Given the description of an element on the screen output the (x, y) to click on. 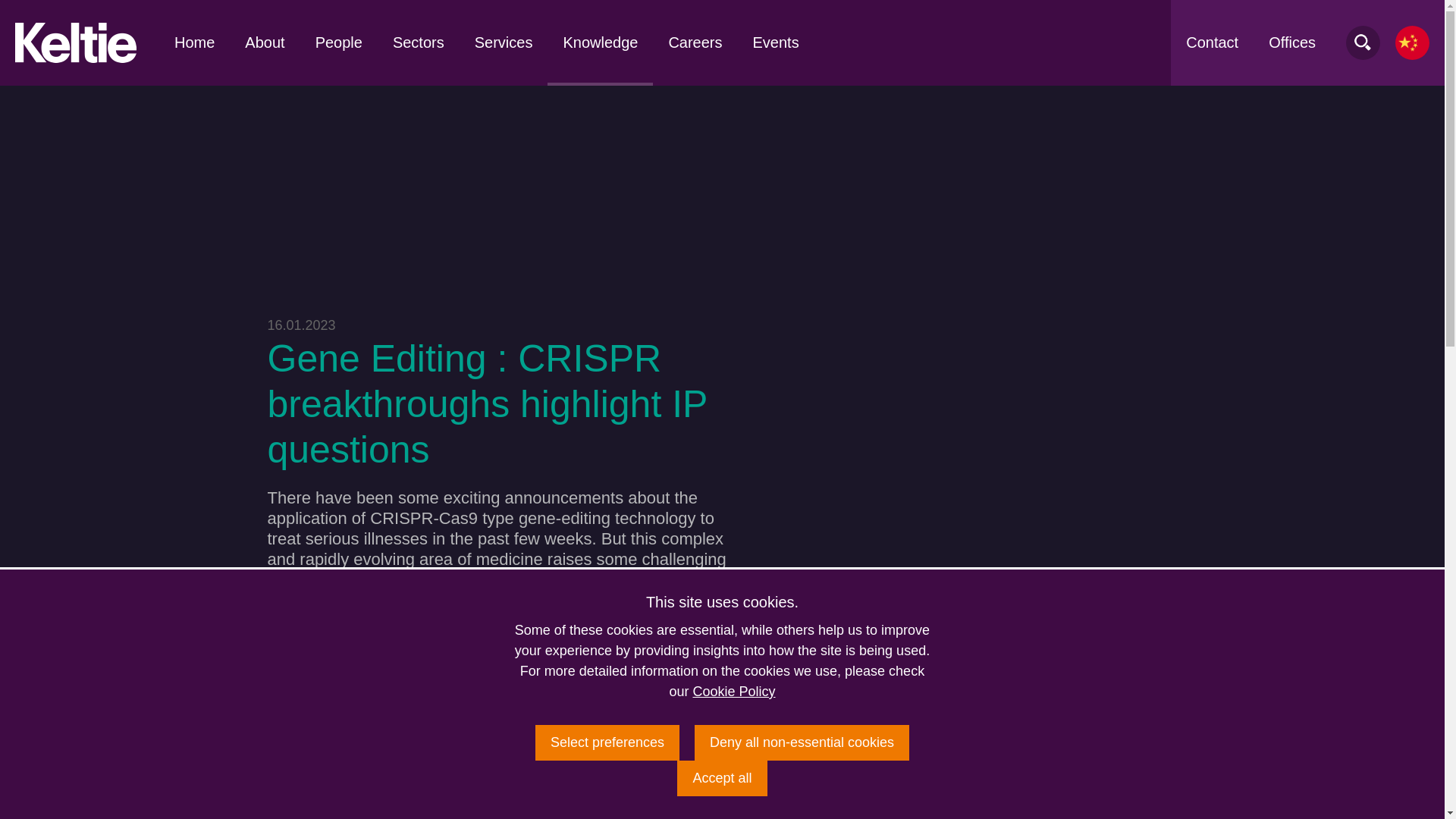
Services (504, 42)
Cookie Policy (733, 691)
Events (775, 42)
Offices (1291, 42)
Sectors (418, 42)
Knowledge (599, 42)
Back to knowledge (1077, 800)
People (338, 42)
